Given the description of an element on the screen output the (x, y) to click on. 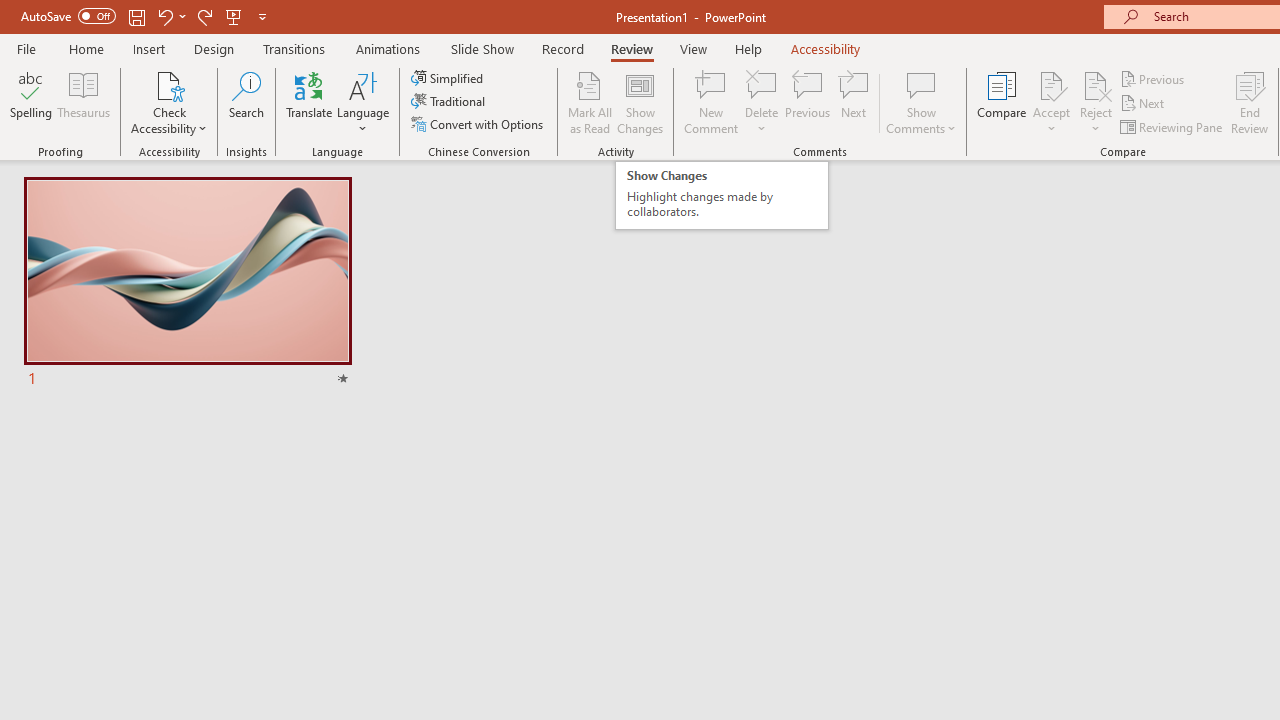
Thesaurus... (83, 102)
Reject Change (1096, 84)
Mark All as Read (589, 102)
Compare (1002, 102)
